Given the description of an element on the screen output the (x, y) to click on. 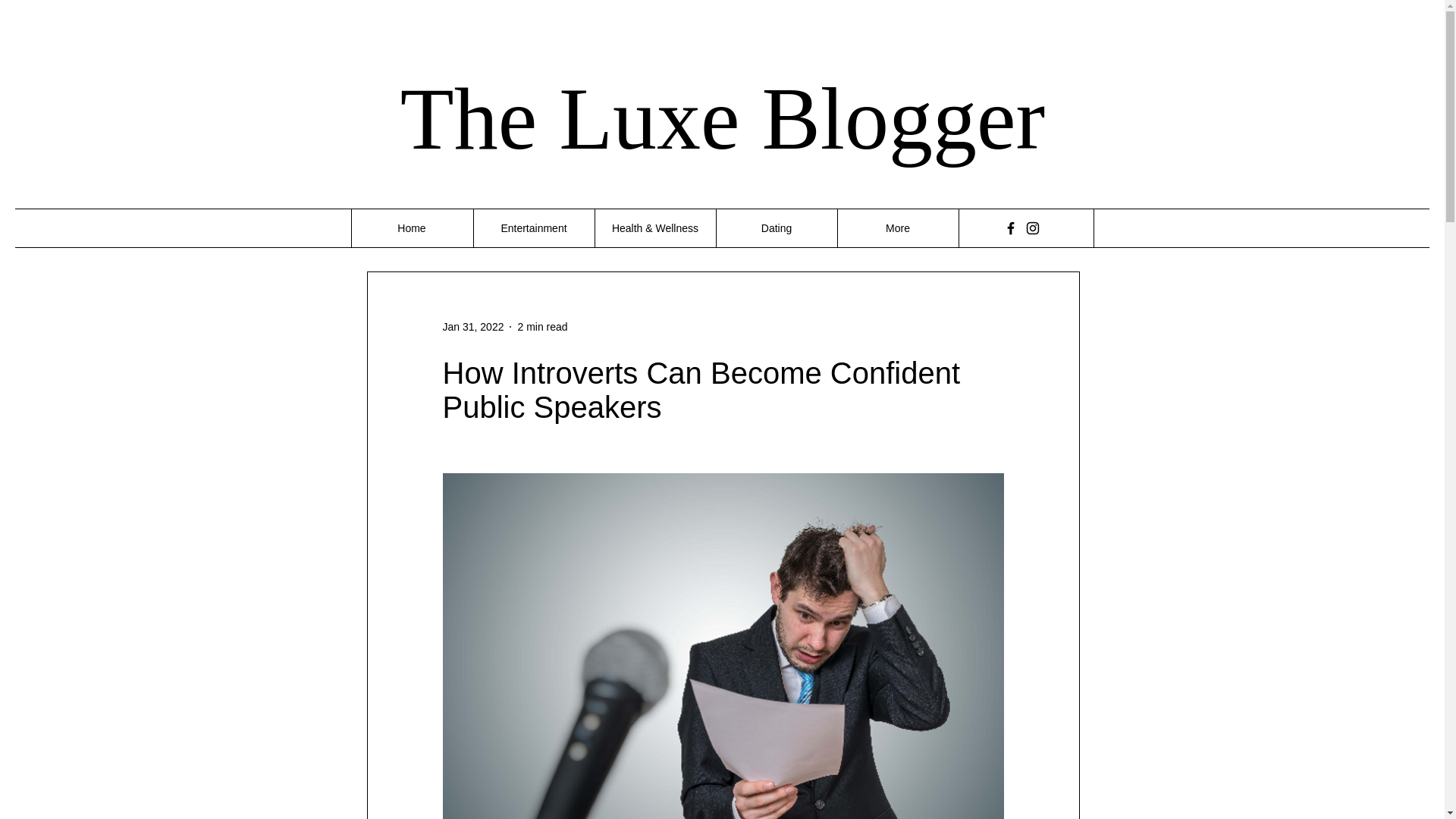
Entertainment (533, 228)
Dating (776, 228)
The Luxe Blogger (722, 118)
Home (410, 228)
2 min read (541, 326)
Jan 31, 2022 (472, 326)
